Given the description of an element on the screen output the (x, y) to click on. 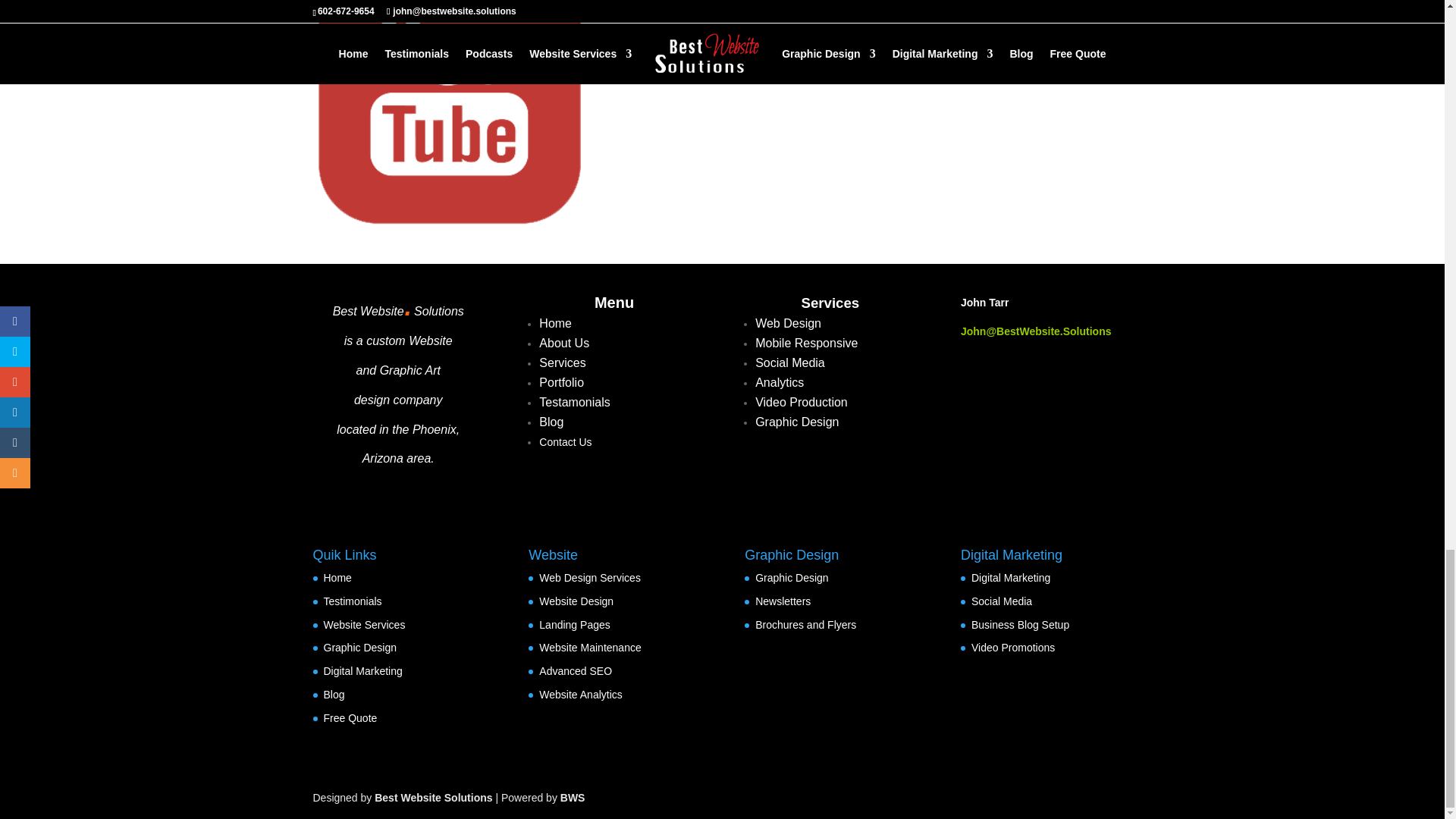
Premium WordPress Themes (433, 797)
